Given the description of an element on the screen output the (x, y) to click on. 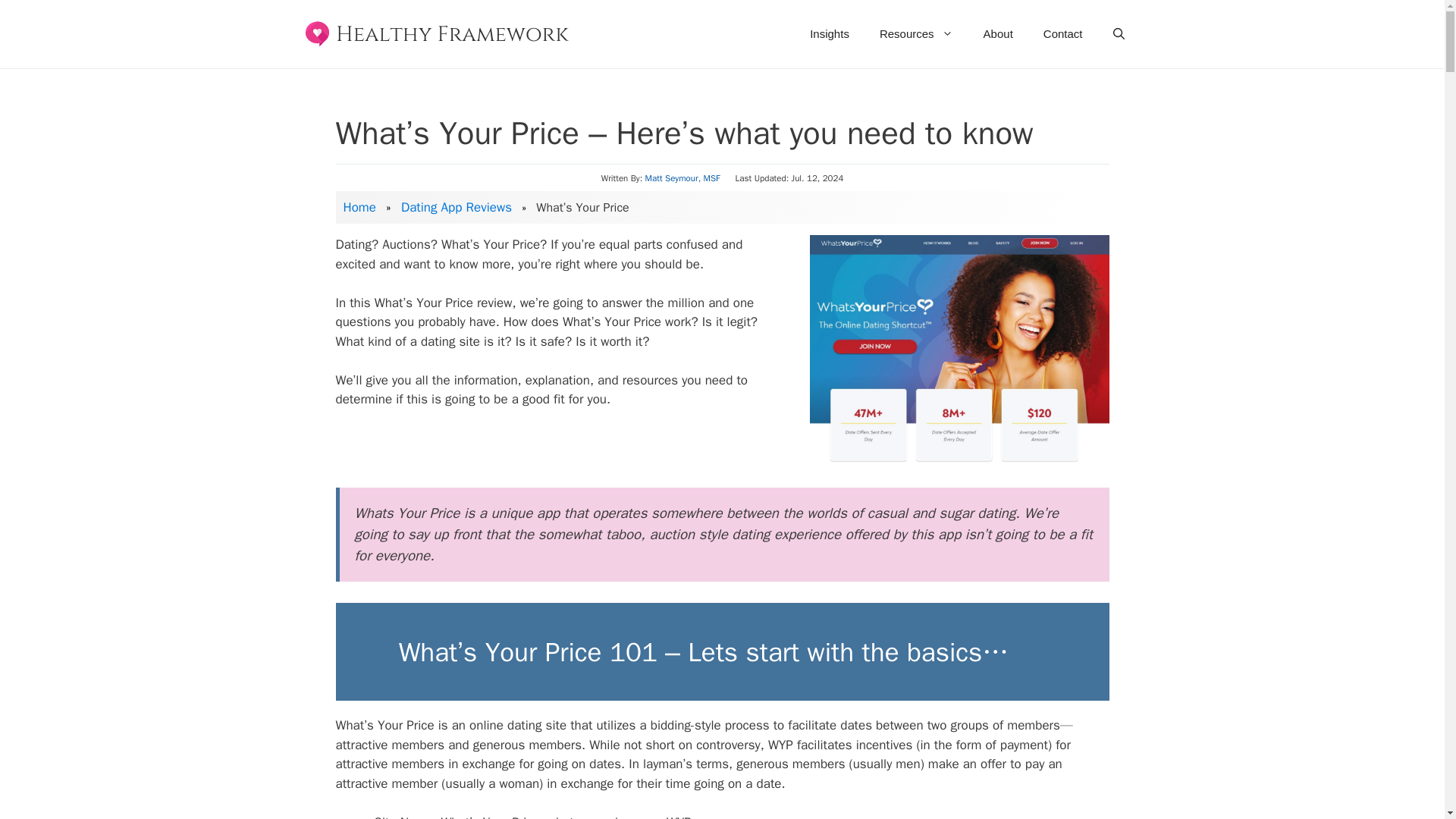
Dating App Reviews (456, 207)
About (997, 33)
Insights (829, 33)
Healthy Framework (441, 33)
Home (358, 207)
Resources (916, 33)
Matt Seymour, MSF (682, 177)
Contact (1062, 33)
Healthy Framework (437, 33)
